Given the description of an element on the screen output the (x, y) to click on. 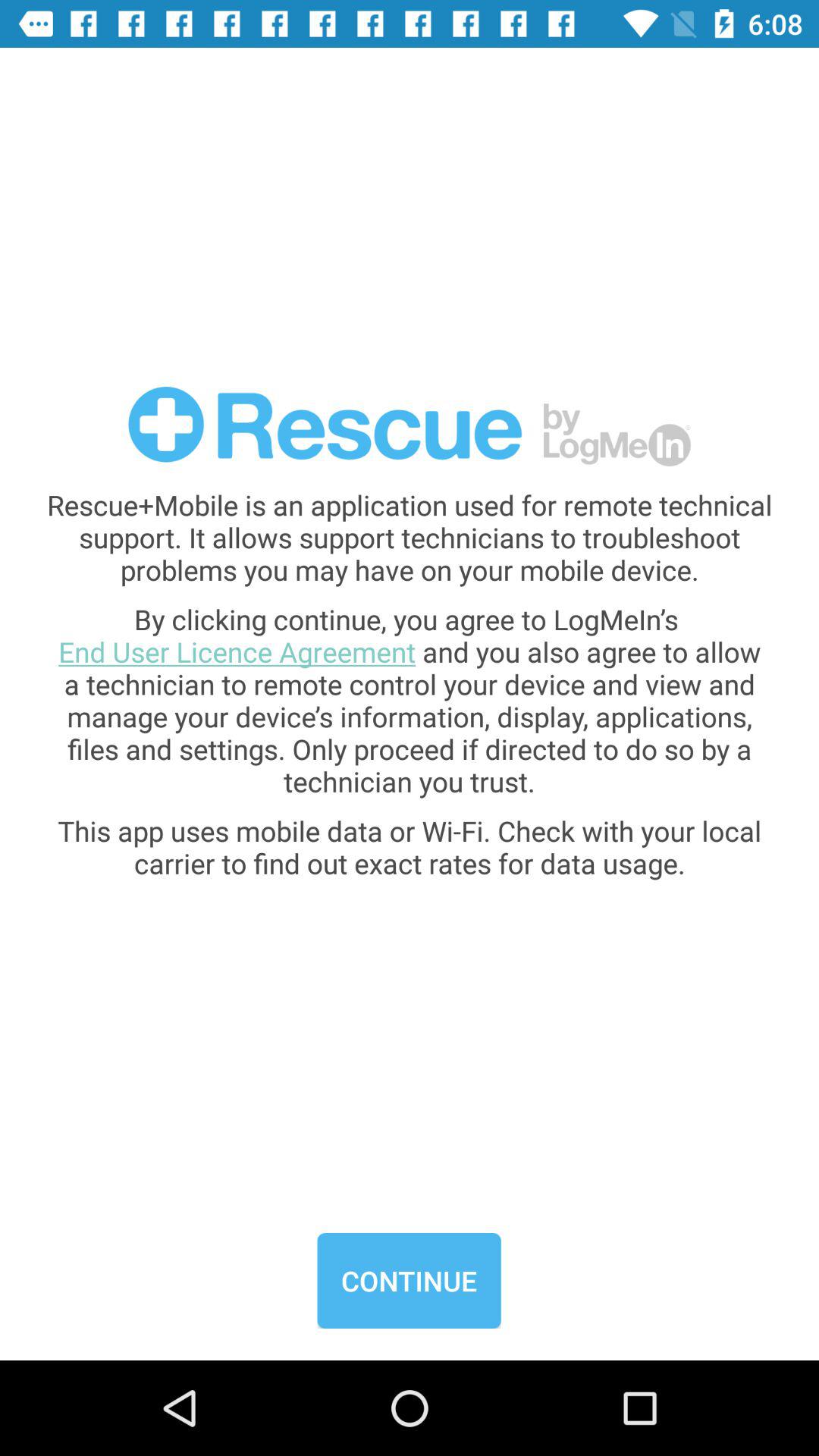
open item above this app uses icon (409, 700)
